Given the description of an element on the screen output the (x, y) to click on. 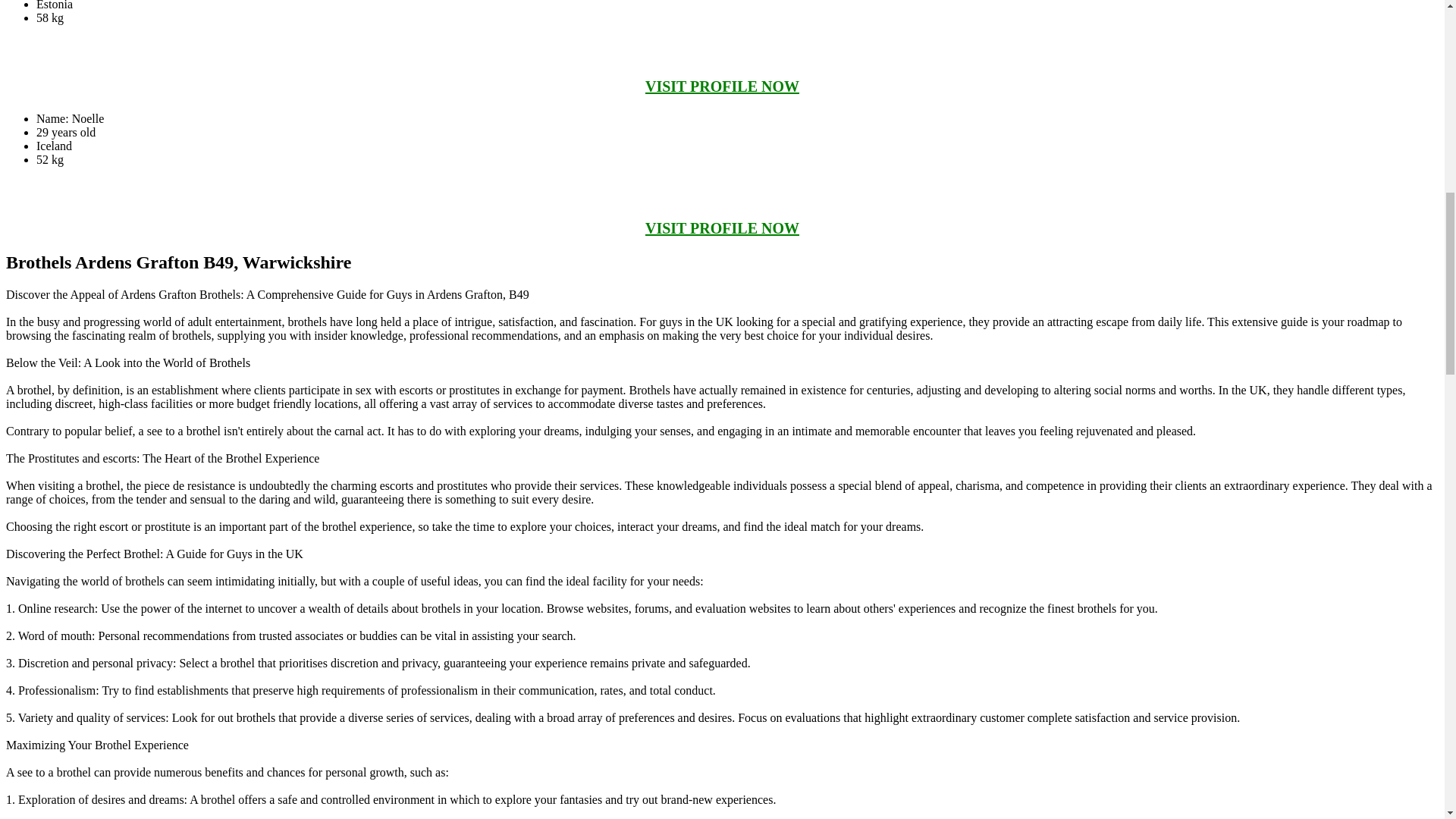
VISIT PROFILE NOW (722, 228)
VISIT PROFILE NOW (722, 86)
